Given the description of an element on the screen output the (x, y) to click on. 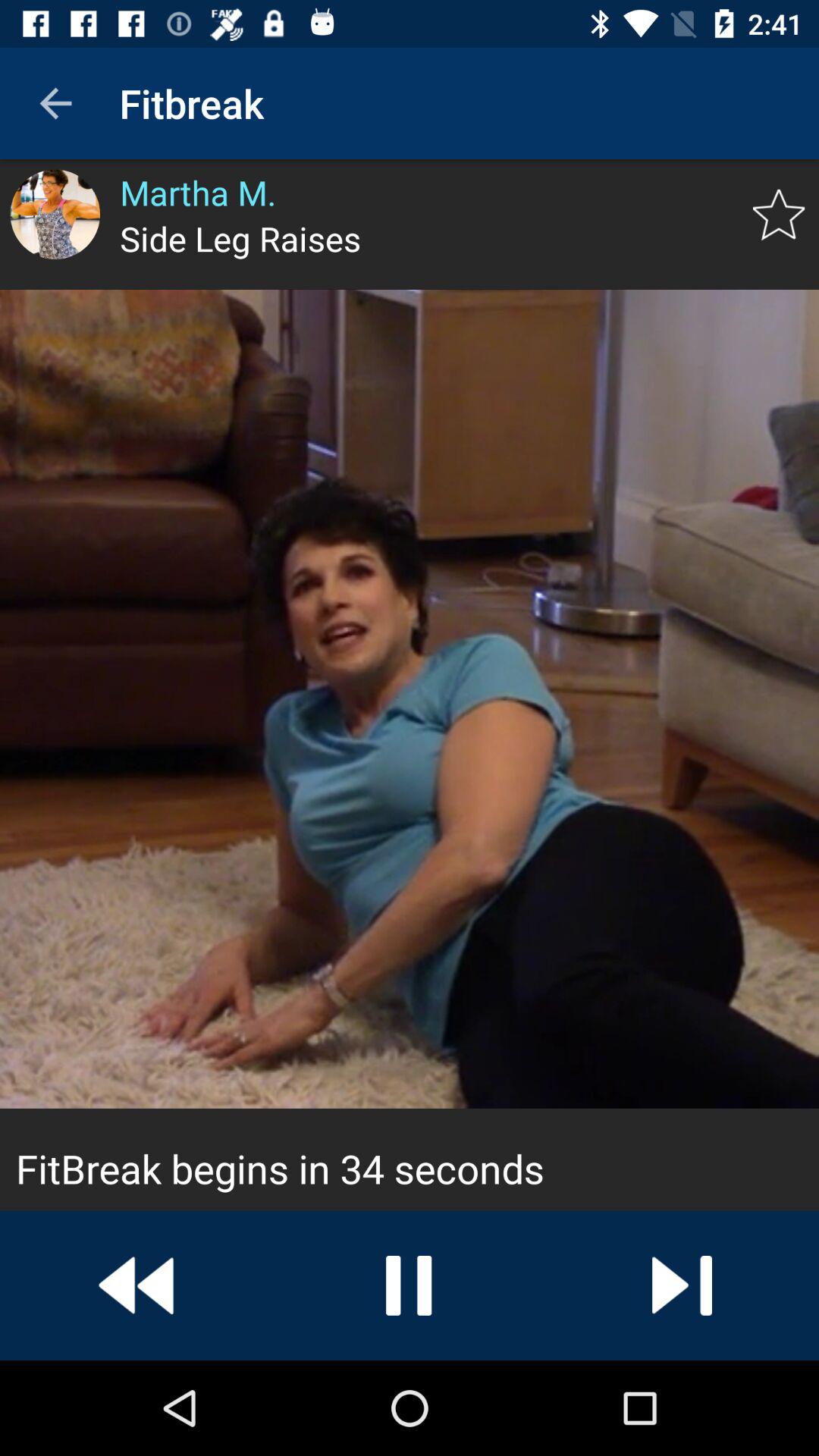
rewind video (136, 1285)
